Given the description of an element on the screen output the (x, y) to click on. 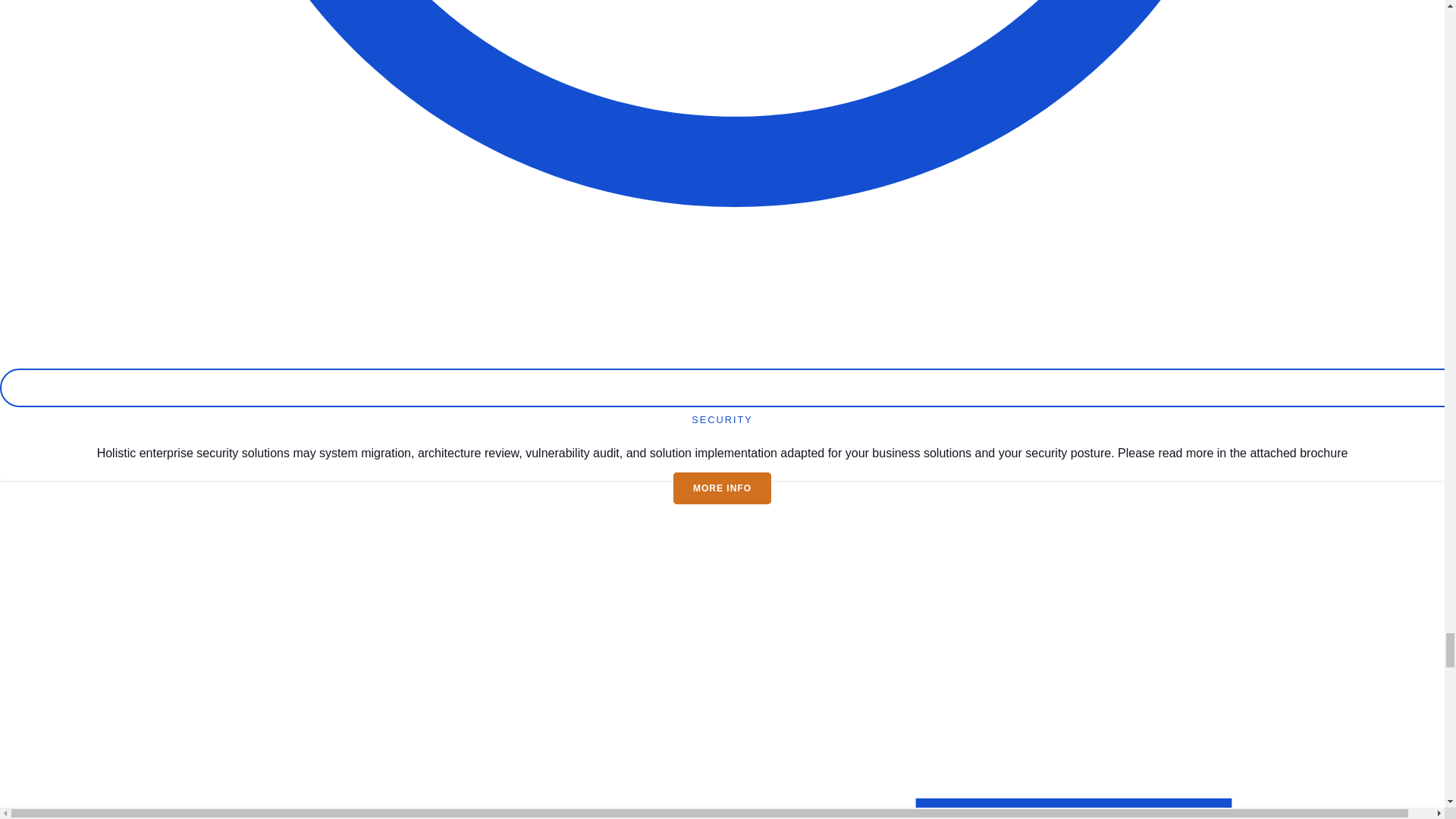
MORE INFO (721, 488)
